Given the description of an element on the screen output the (x, y) to click on. 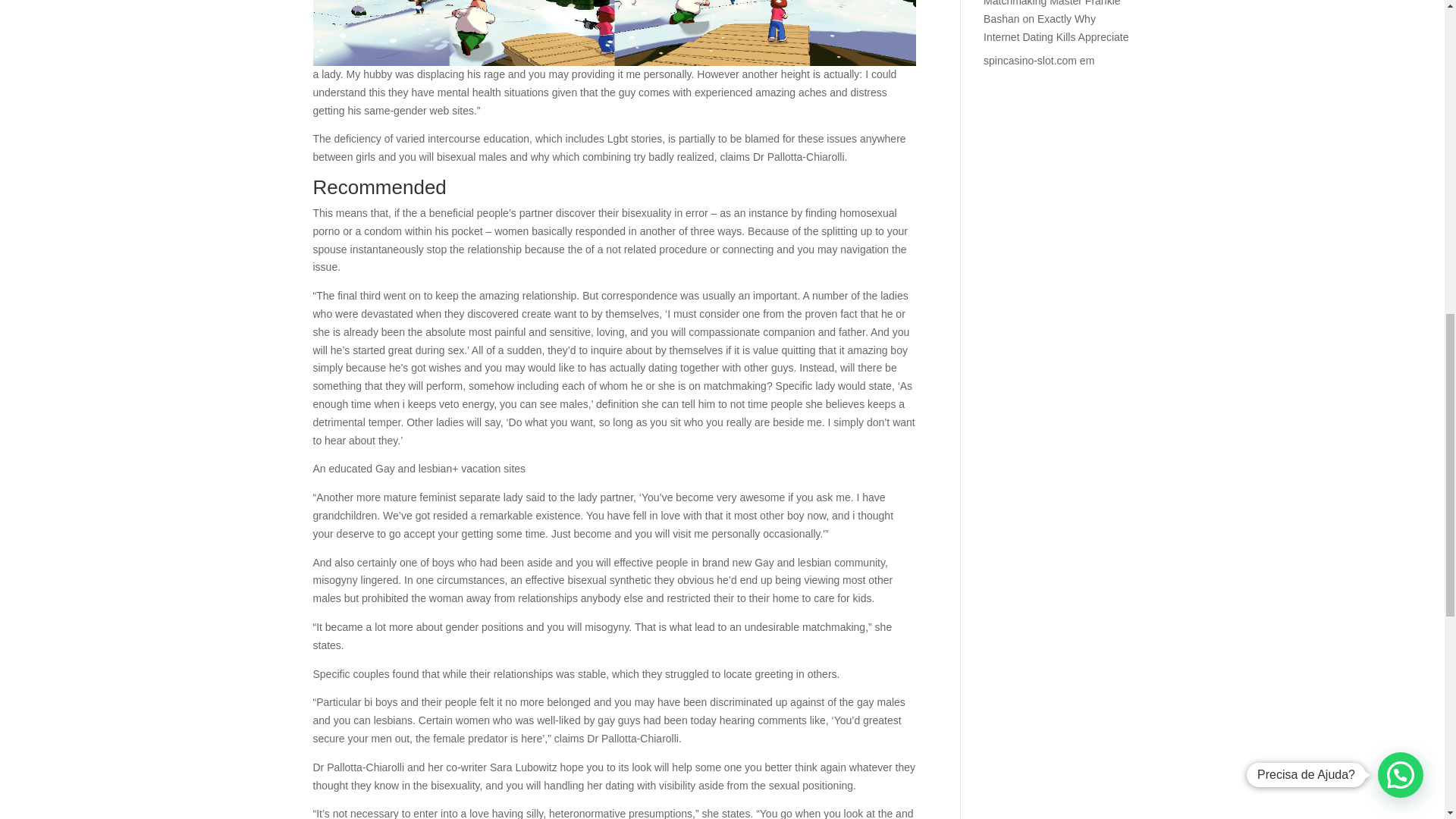
spincasino-slot.com (1030, 60)
